Given the description of an element on the screen output the (x, y) to click on. 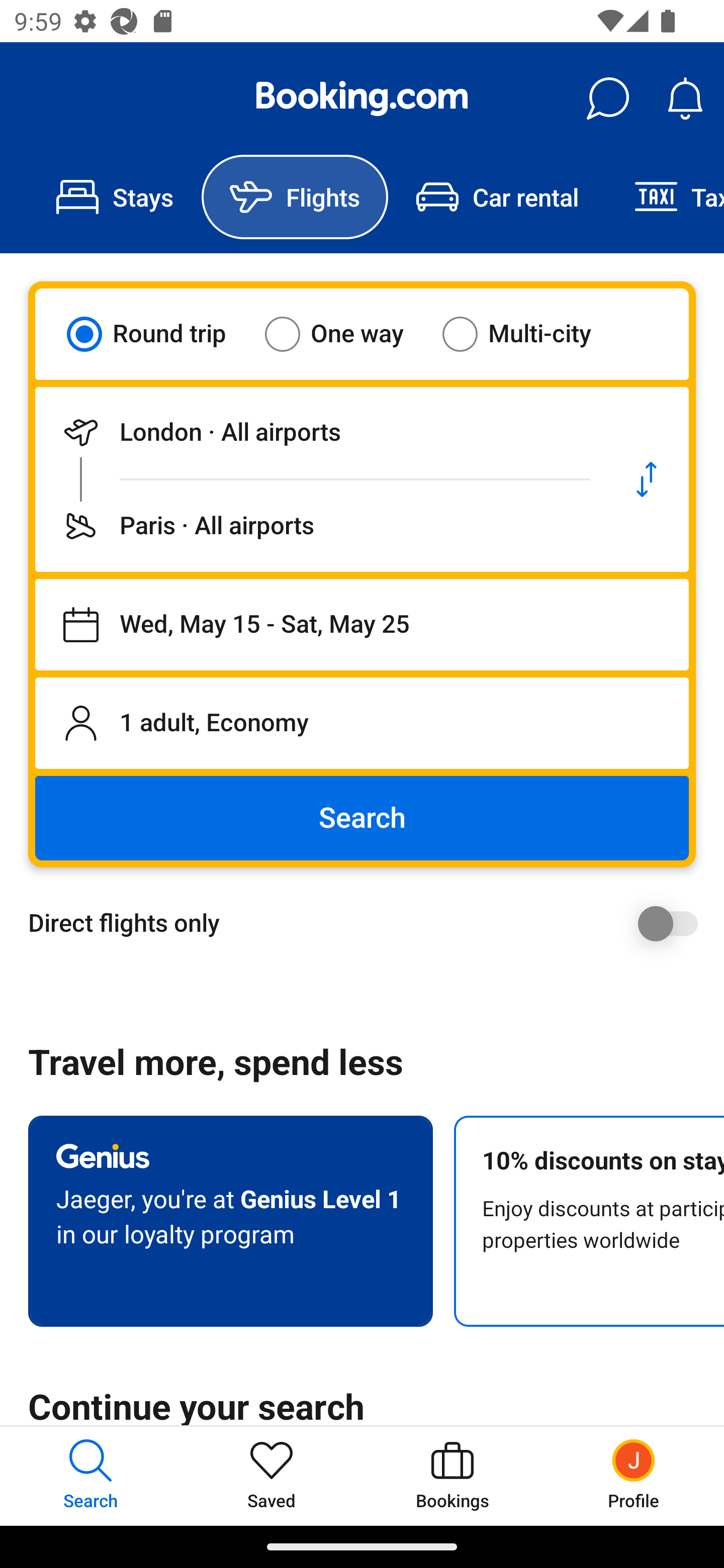
Messages (607, 98)
Notifications (685, 98)
Stays (114, 197)
Flights (294, 197)
Car rental (497, 197)
Taxi (665, 197)
One way (346, 333)
Multi-city (528, 333)
Departing from London · All airports (319, 432)
Swap departure location and destination (646, 479)
Flying to Paris · All airports (319, 525)
Departing on Wed, May 15, returning on Sat, May 25 (361, 624)
1 adult, Economy (361, 722)
Search (361, 818)
Direct flights only (369, 923)
Saved (271, 1475)
Bookings (452, 1475)
Profile (633, 1475)
